Given the description of an element on the screen output the (x, y) to click on. 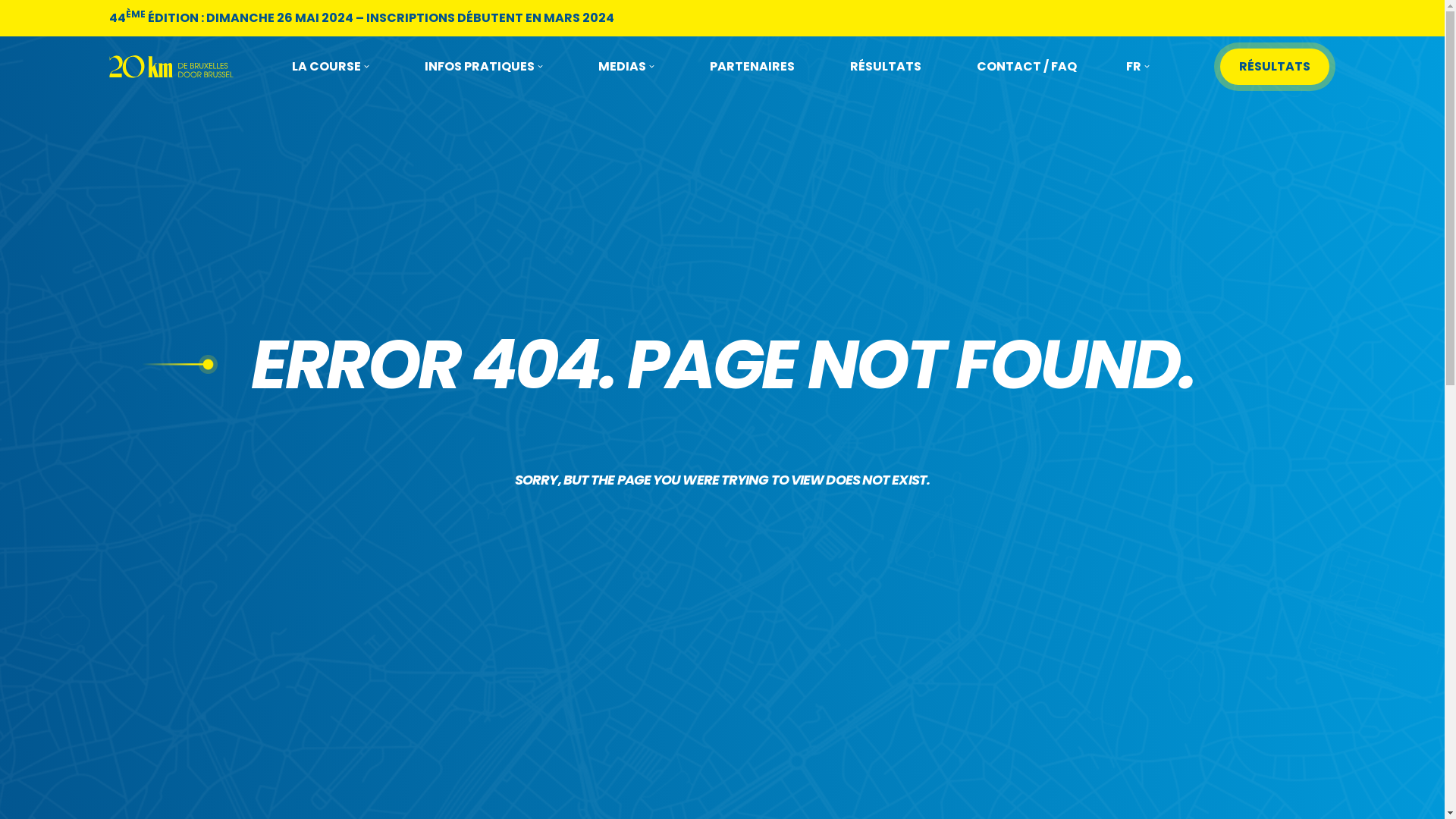
PARTENAIRES Element type: text (751, 66)
INFOS PRATIQUES Element type: text (483, 66)
MEDIAS Element type: text (626, 66)
CONTACT / FAQ Element type: text (1026, 66)
LA COURSE Element type: text (330, 66)
